Given the description of an element on the screen output the (x, y) to click on. 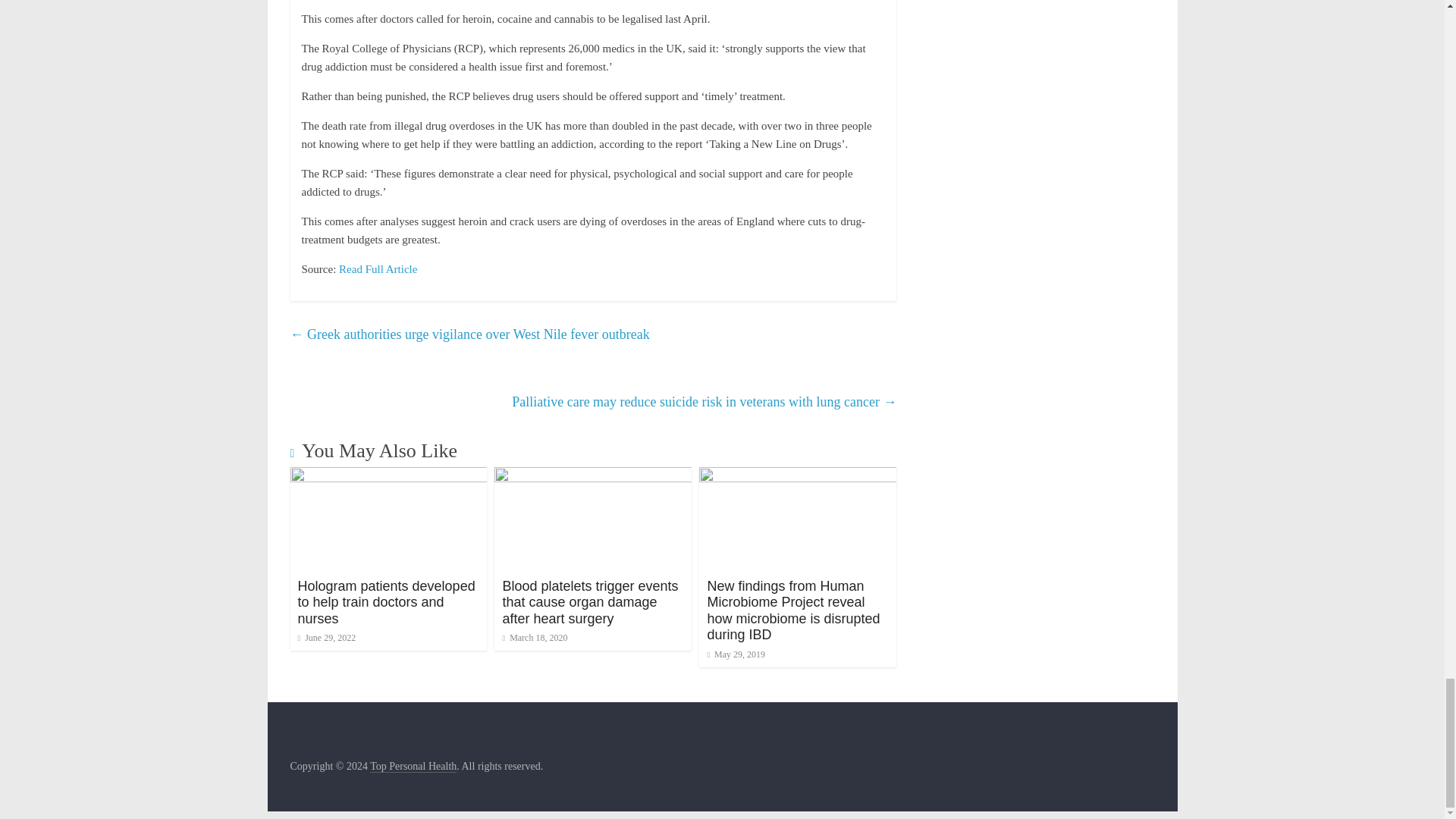
6:37 pm (735, 654)
June 29, 2022 (326, 637)
Hologram patients developed to help train doctors and nurses (387, 476)
March 18, 2020 (534, 637)
Hologram patients developed to help train doctors and nurses (385, 602)
8:07 pm (534, 637)
